Given the description of an element on the screen output the (x, y) to click on. 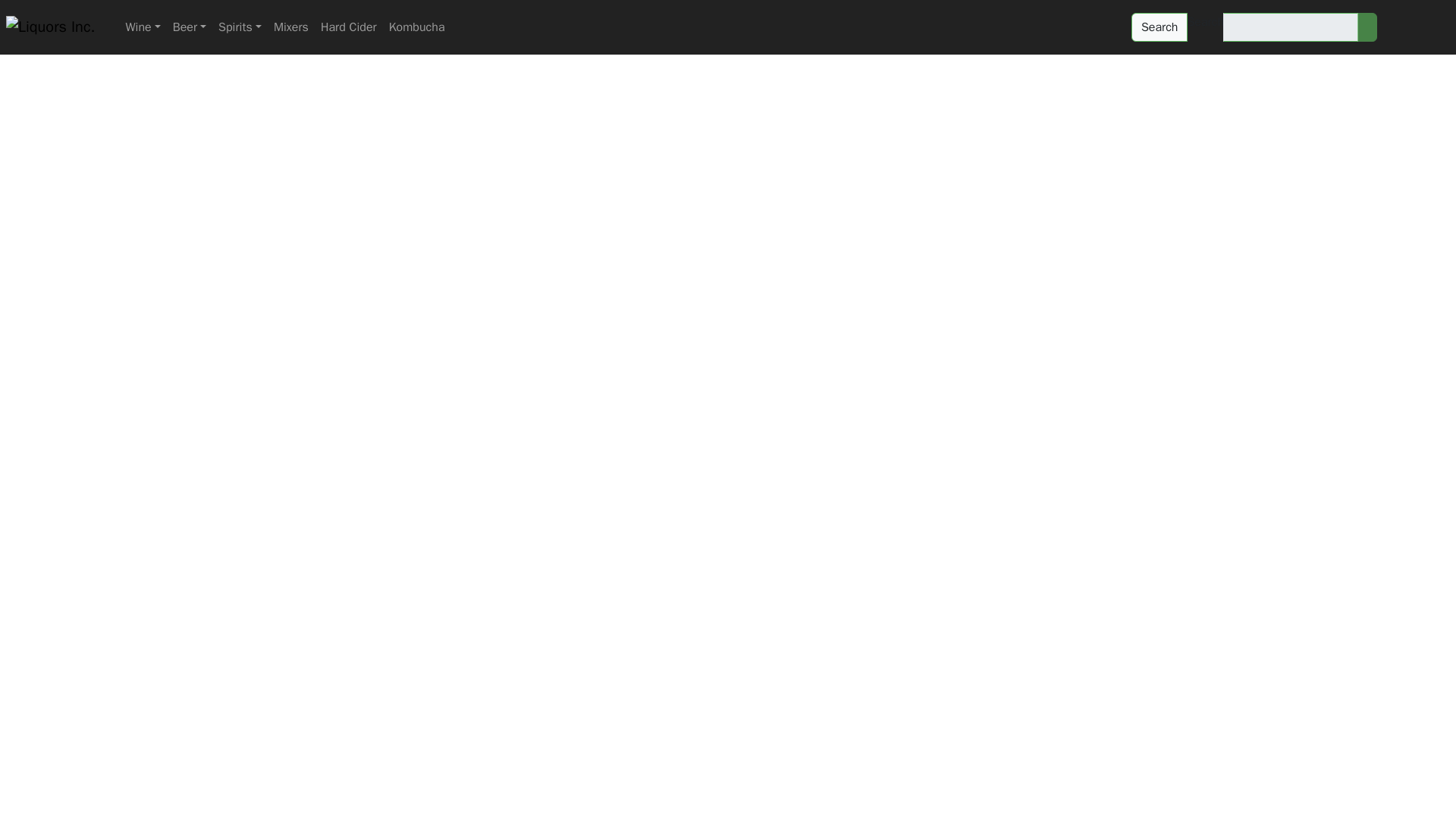
Wine (142, 27)
